Given the description of an element on the screen output the (x, y) to click on. 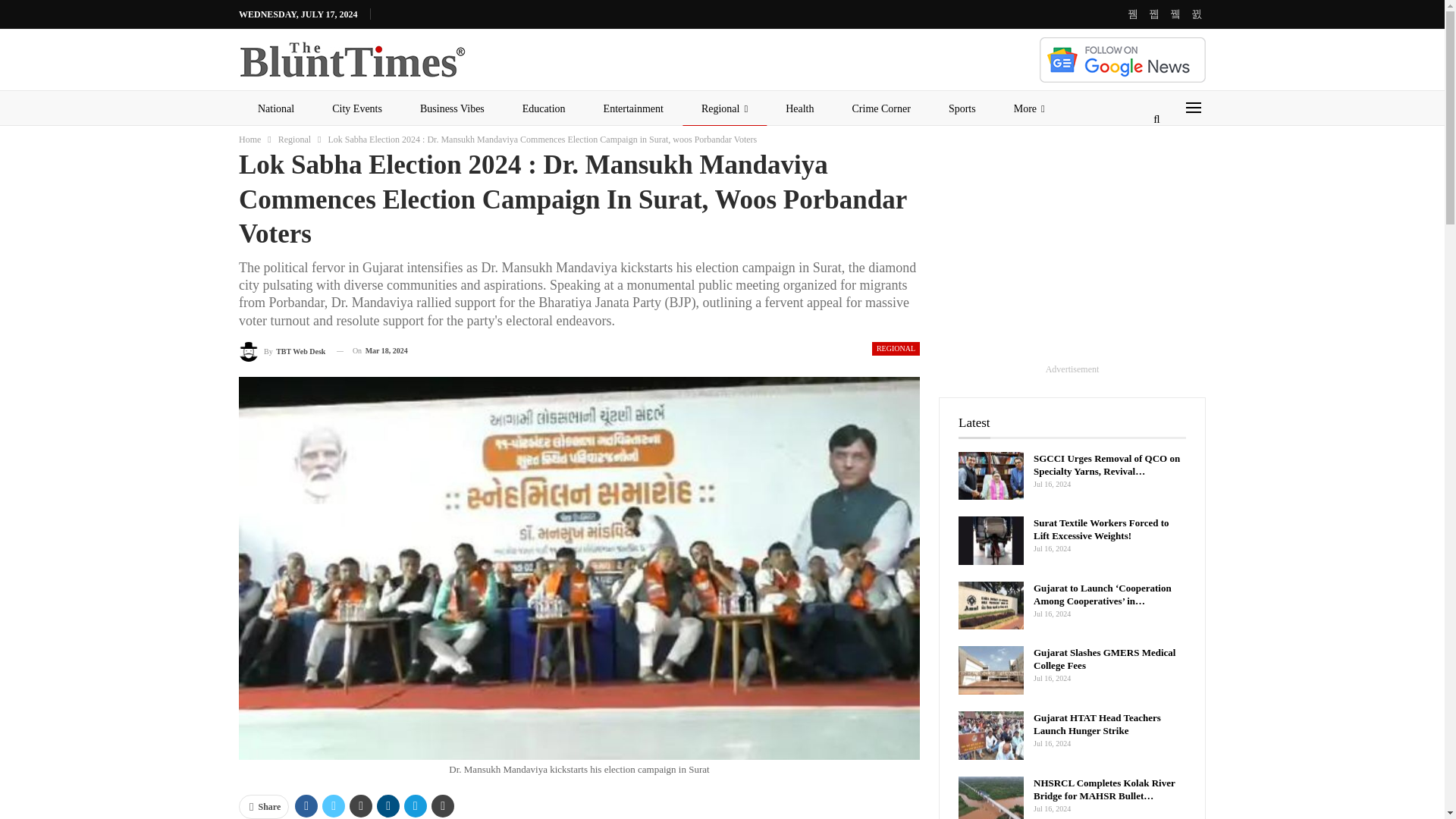
Business Vibes (452, 108)
Entertainment (633, 108)
Browse Author Articles (281, 351)
National (275, 108)
City Events (357, 108)
Regional (724, 108)
Education (544, 108)
